Given the description of an element on the screen output the (x, y) to click on. 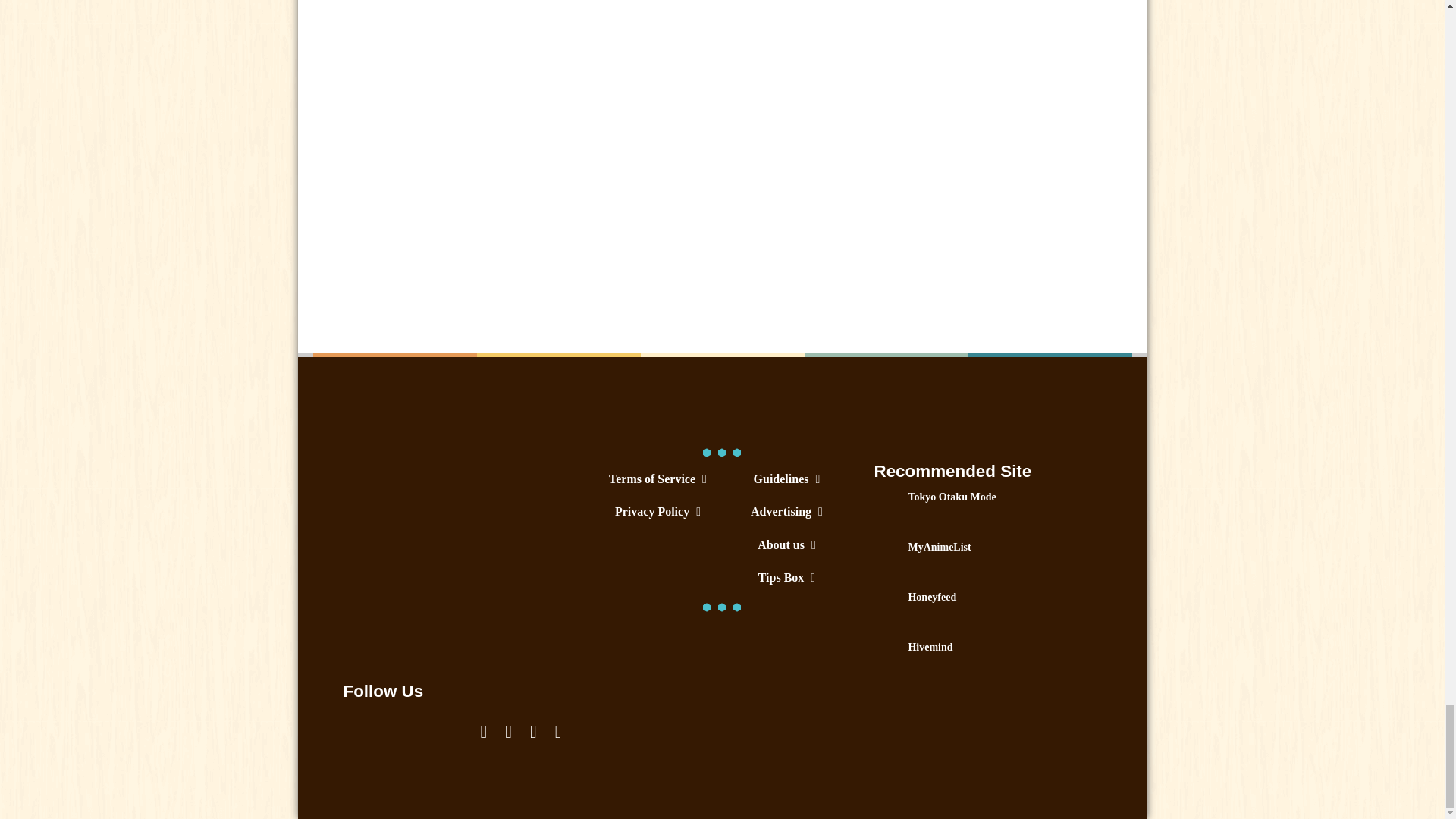
Privacy Policy (657, 511)
Guidelines (786, 478)
Terms of Service Agreement (657, 478)
